Given the description of an element on the screen output the (x, y) to click on. 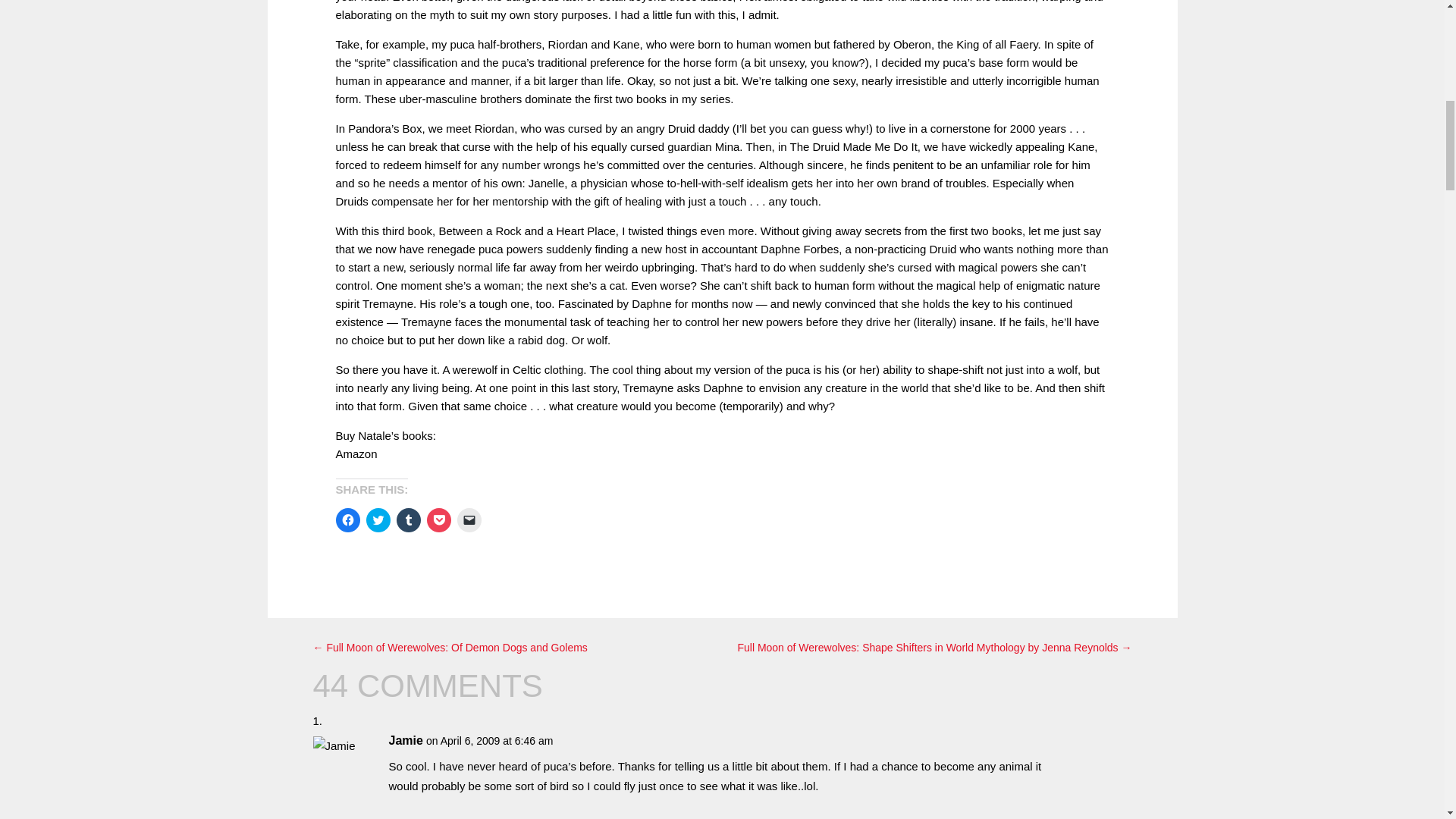
Click to share on Pocket (437, 519)
Click to email a link to a friend (468, 519)
Click to share on Facebook (346, 519)
Click to share on Tumblr (408, 519)
Click to share on Twitter (377, 519)
